Given the description of an element on the screen output the (x, y) to click on. 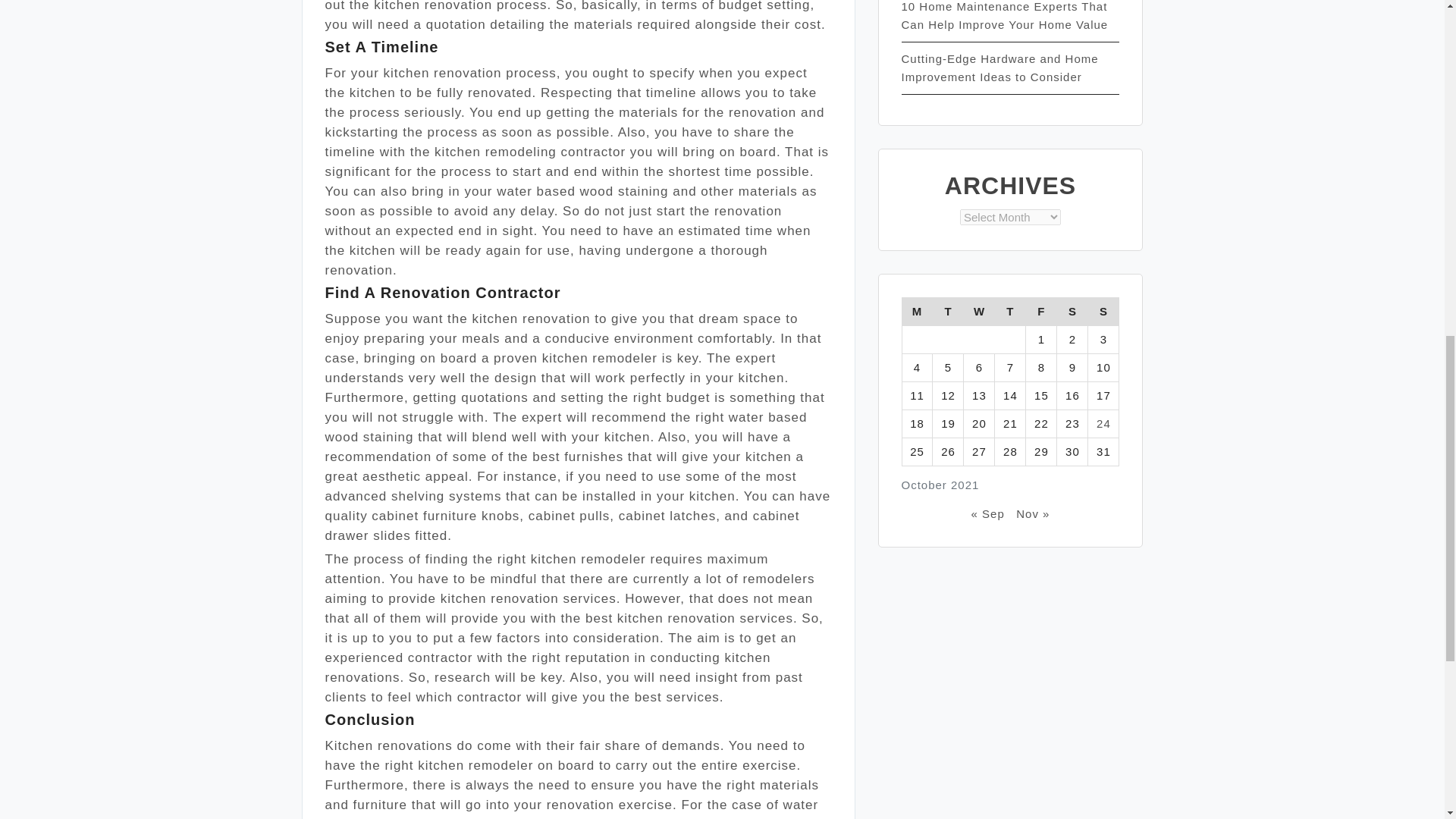
Monday (917, 311)
24 (1103, 422)
Wednesday (978, 311)
Cutting-Edge Hardware and Home Improvement Ideas to Consider (999, 67)
Sunday (1103, 311)
Saturday (1072, 311)
Tuesday (948, 311)
Friday (1041, 311)
Thursday (1010, 311)
